Given the description of an element on the screen output the (x, y) to click on. 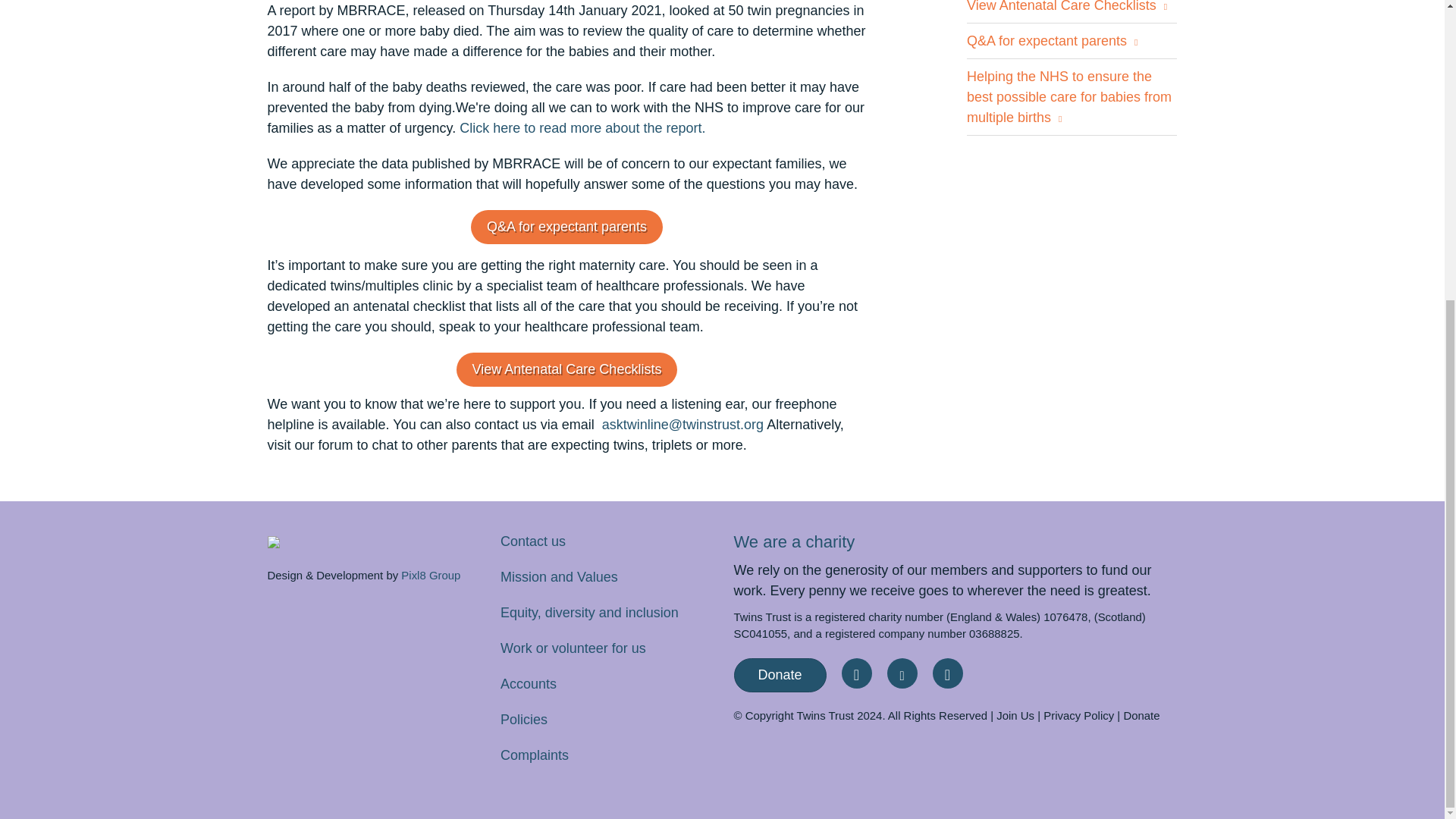
Donate (780, 675)
Join Us (1014, 715)
Donate (1140, 715)
Equity, diversity and inclusion (589, 612)
Contact Twins Trust (533, 540)
